Given the description of an element on the screen output the (x, y) to click on. 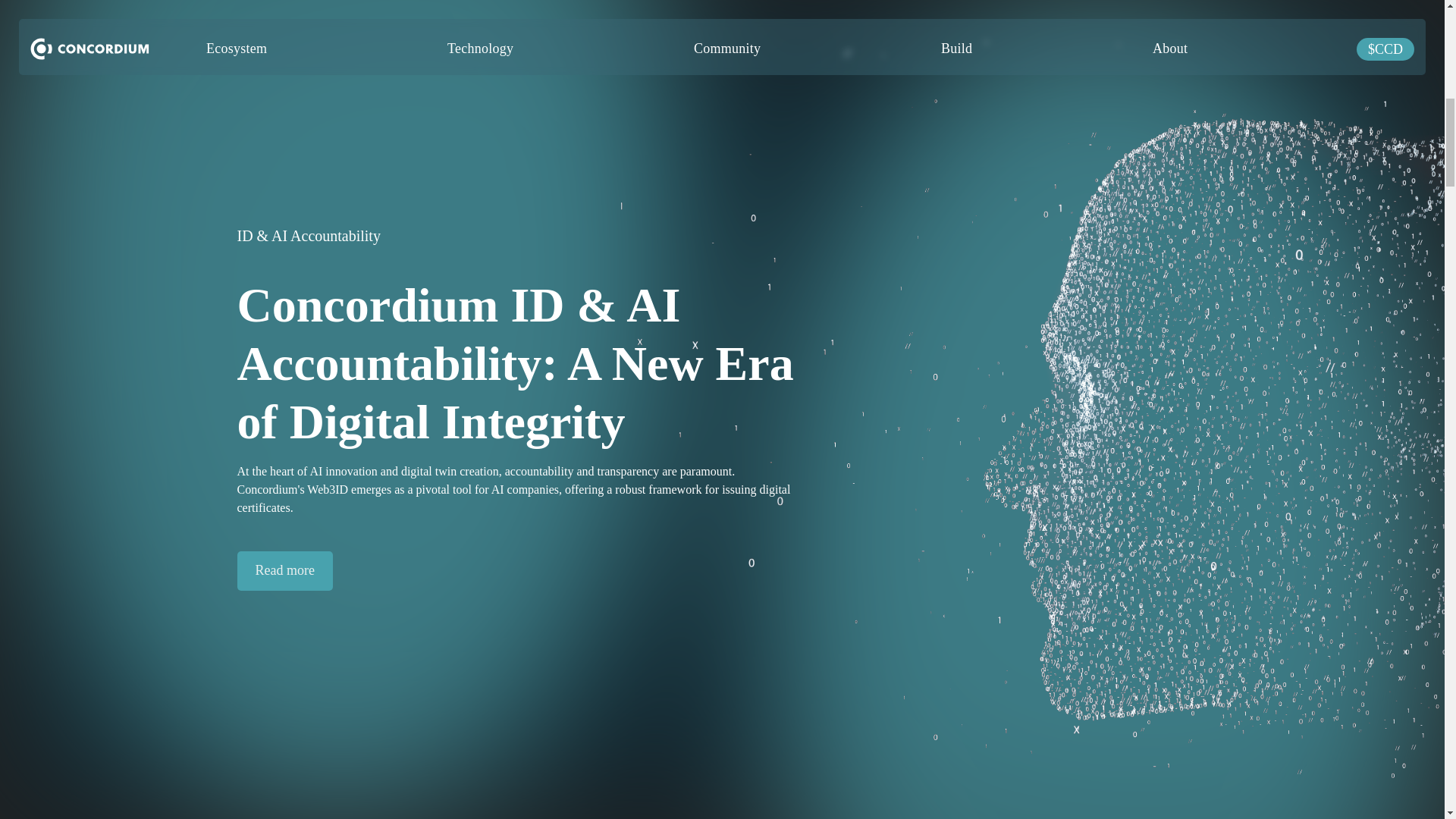
Read more (283, 570)
